Given the description of an element on the screen output the (x, y) to click on. 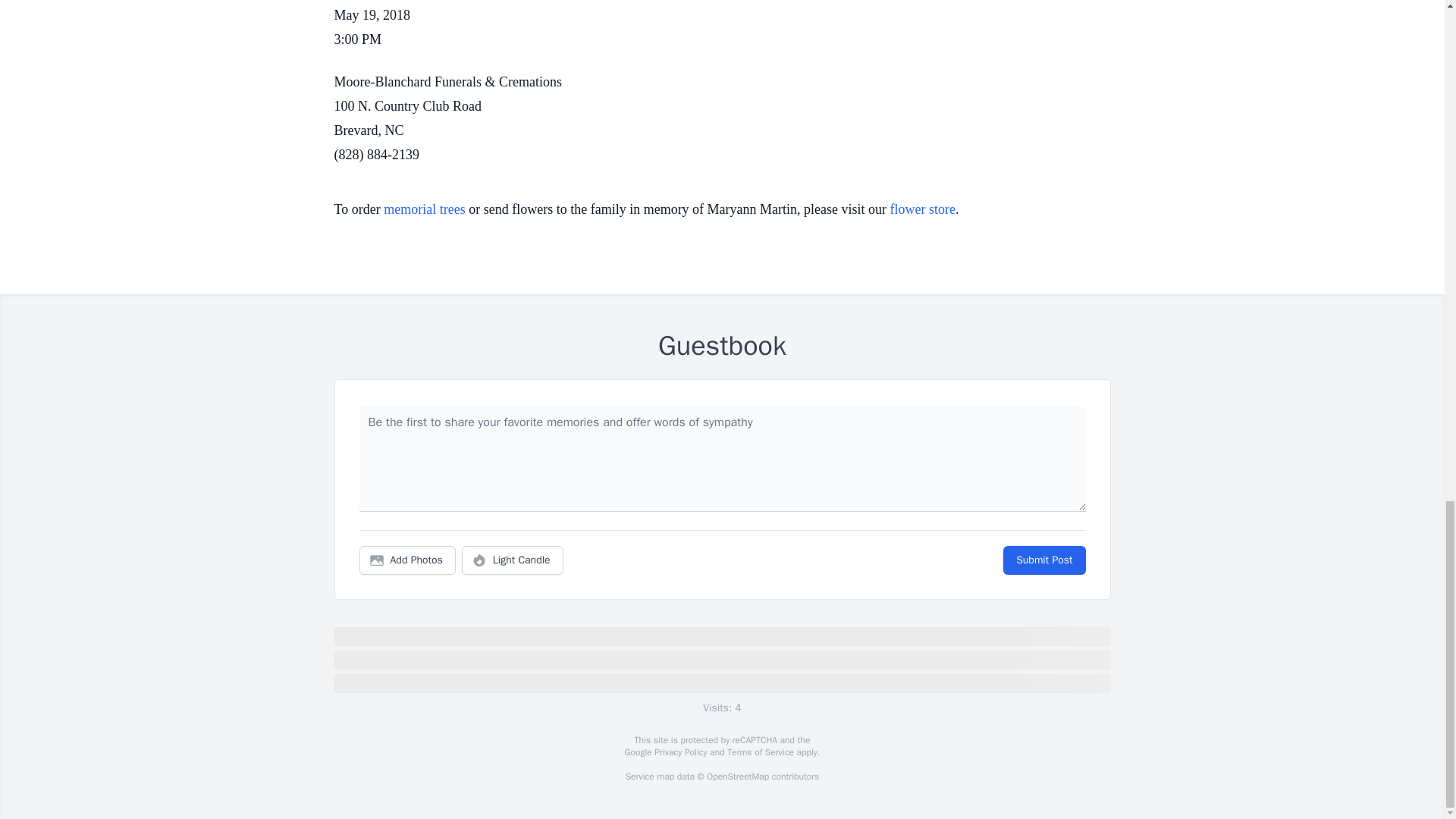
Privacy Policy (679, 752)
Terms of Service (759, 752)
Submit Post (1043, 560)
memorial trees (424, 209)
Add Photos (407, 560)
Light Candle (512, 560)
flower store (922, 209)
OpenStreetMap (737, 776)
